Given the description of an element on the screen output the (x, y) to click on. 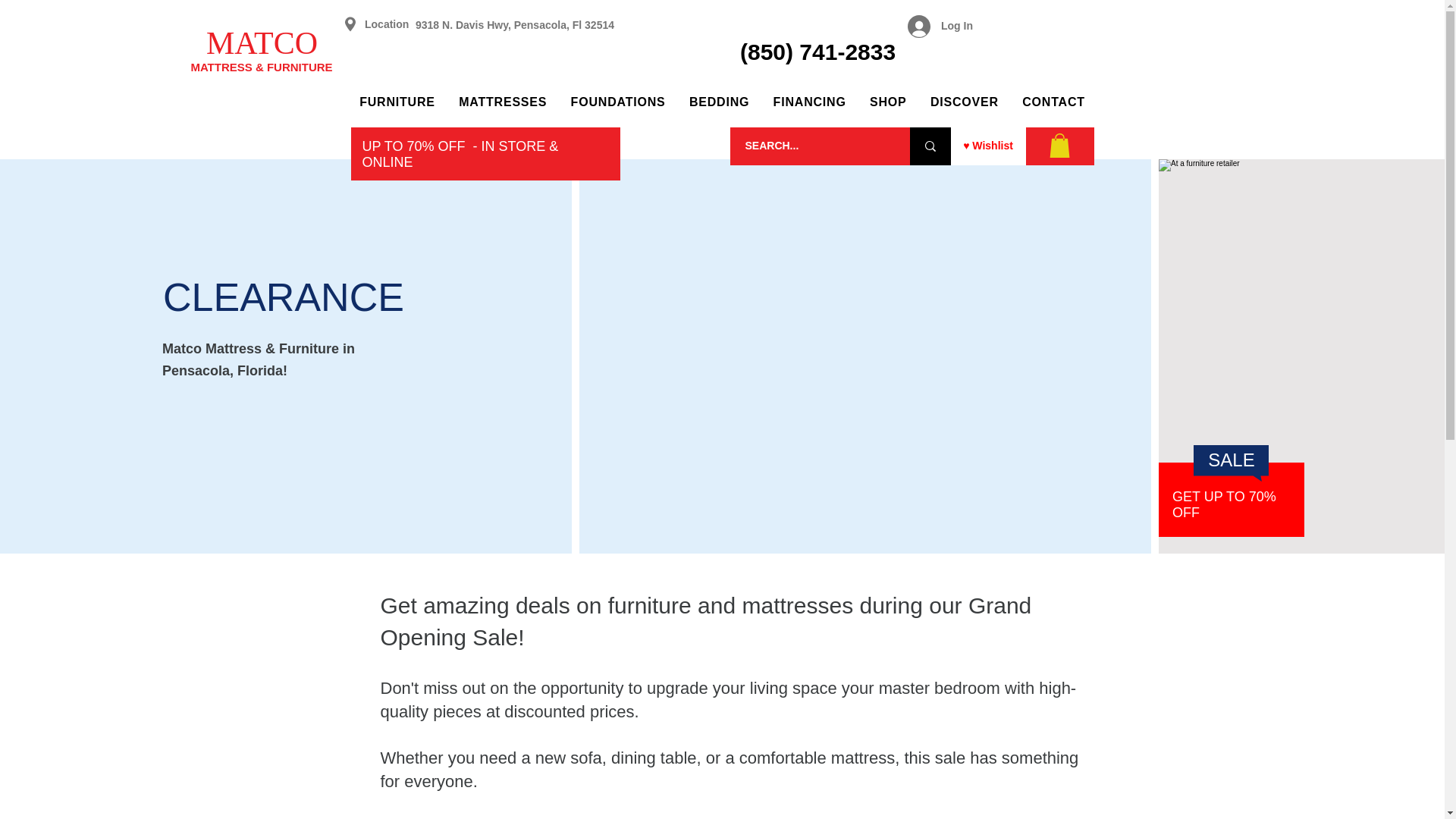
CONTACT (1053, 102)
BEDDING (718, 102)
SHOP (887, 102)
MATTRESSES (501, 102)
9318 N. Davis Hwy, Pensacola, Fl 32514 (514, 24)
Log In (940, 26)
MATCO (261, 42)
FINANCING (809, 102)
FOUNDATIONS (618, 102)
Location (387, 24)
